Given the description of an element on the screen output the (x, y) to click on. 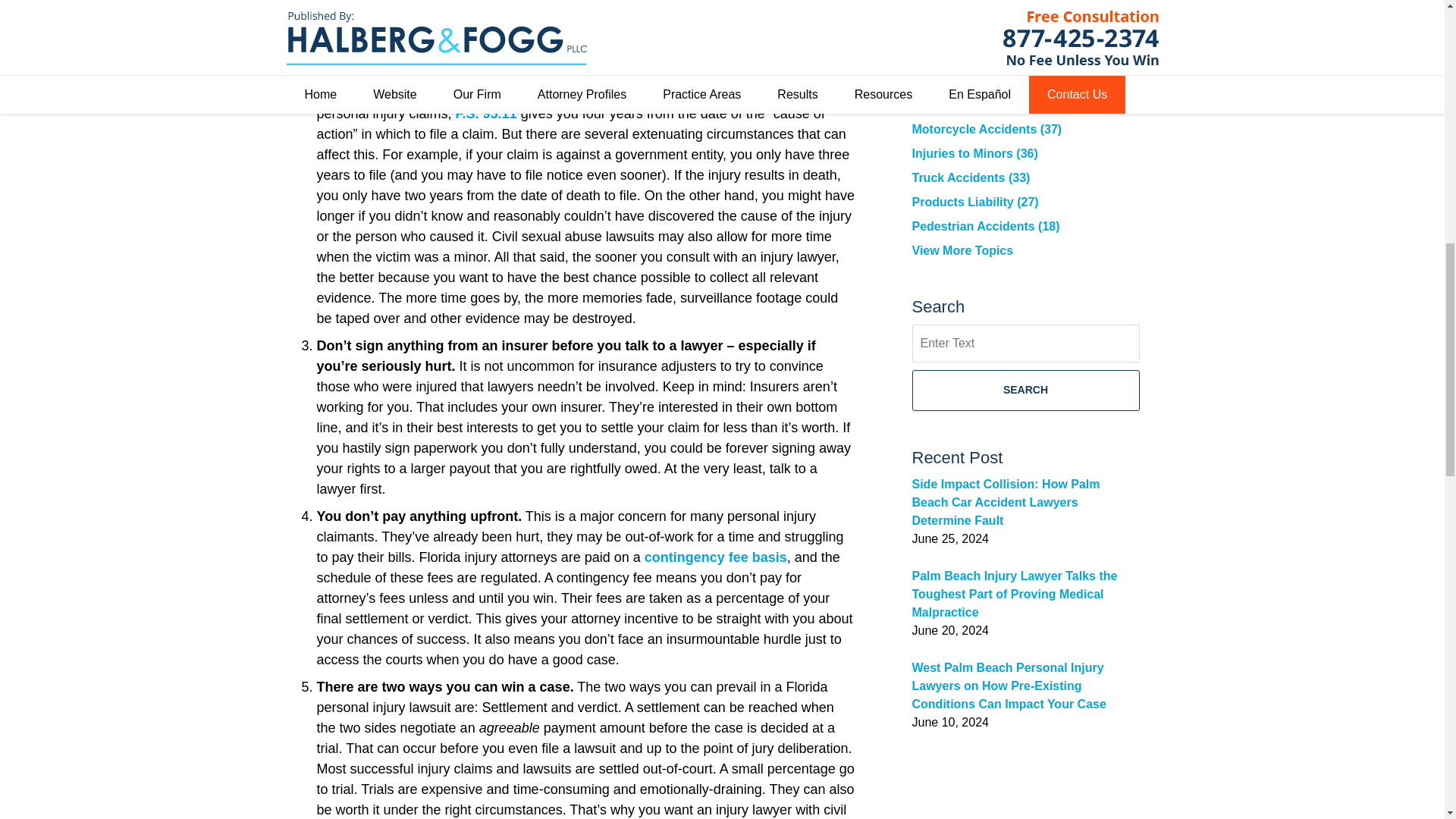
contingency fee basis (716, 557)
F.S. 95.11 (485, 113)
